Given the description of an element on the screen output the (x, y) to click on. 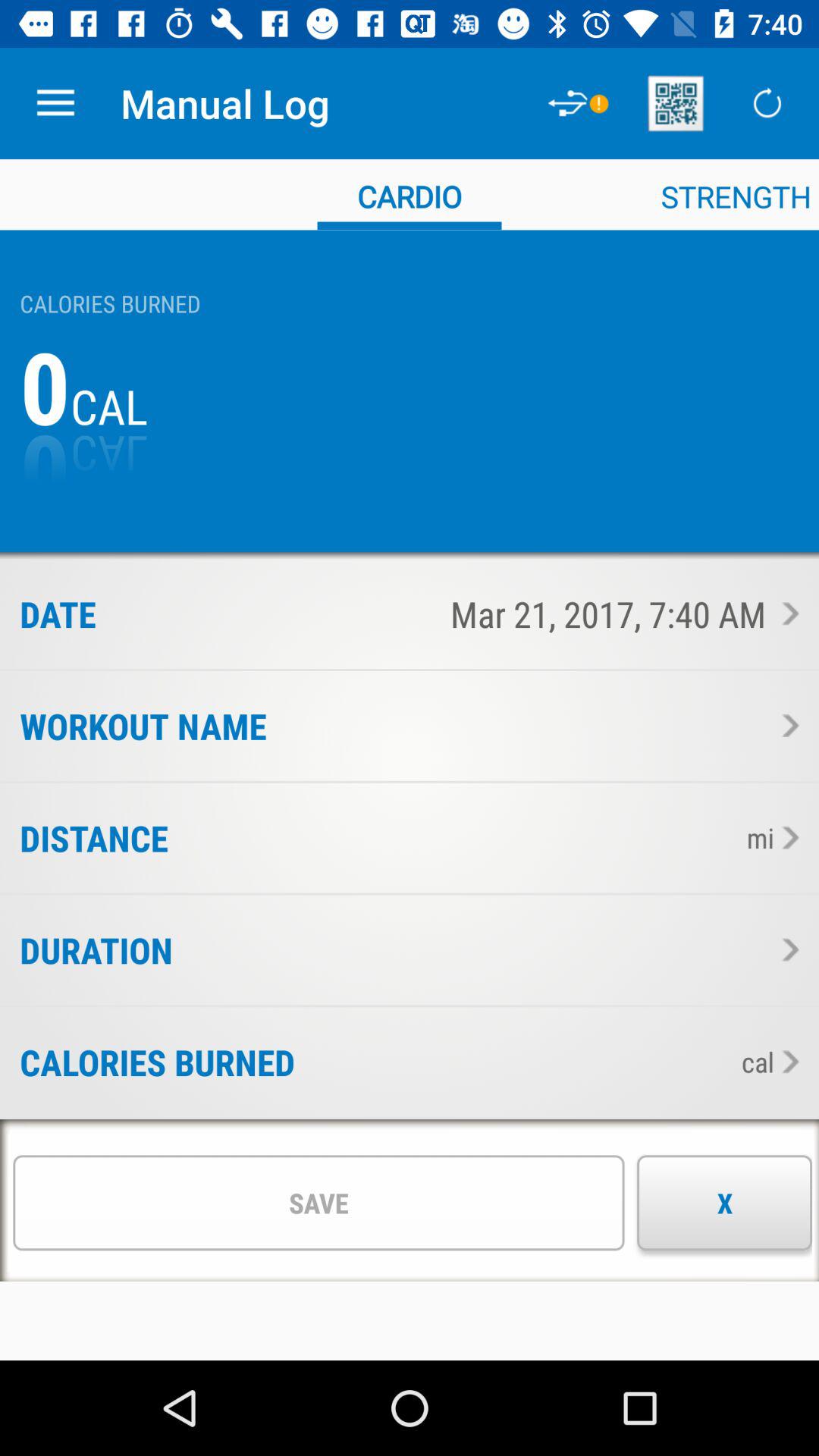
press save item (318, 1202)
